Given the description of an element on the screen output the (x, y) to click on. 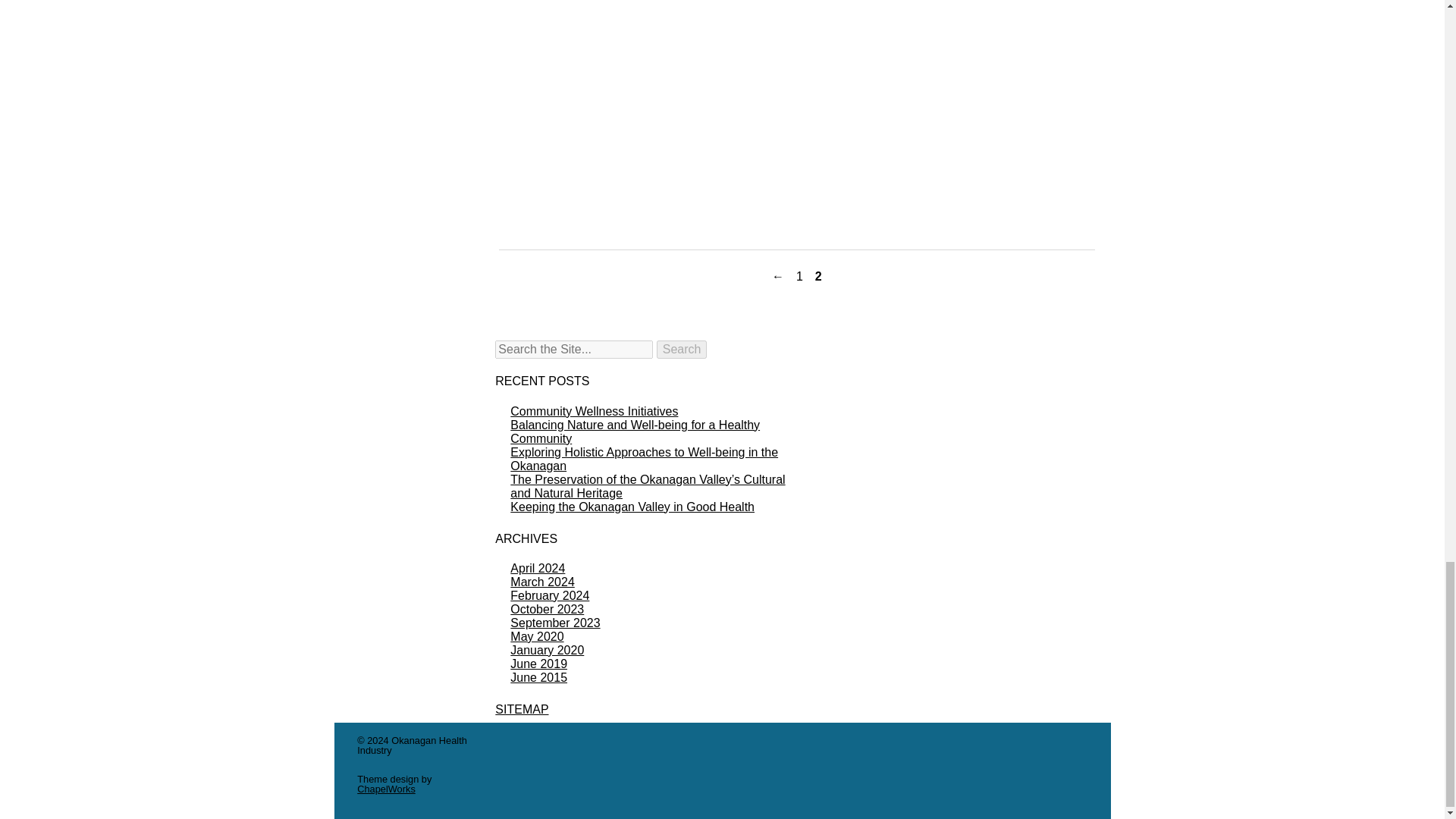
Search (681, 349)
March 2024 (543, 581)
February 2024 (550, 594)
April 2024 (537, 567)
May 2020 (537, 635)
Search (681, 349)
October 2023 (547, 608)
June 2019 (539, 663)
ChapelWorks (385, 788)
June 2015 (539, 676)
January 2020 (547, 649)
Community Wellness Initiatives (594, 410)
SITEMAP (521, 708)
Balancing Nature and Well-being for a Healthy Community (635, 431)
Theme design by (393, 778)
